Given the description of an element on the screen output the (x, y) to click on. 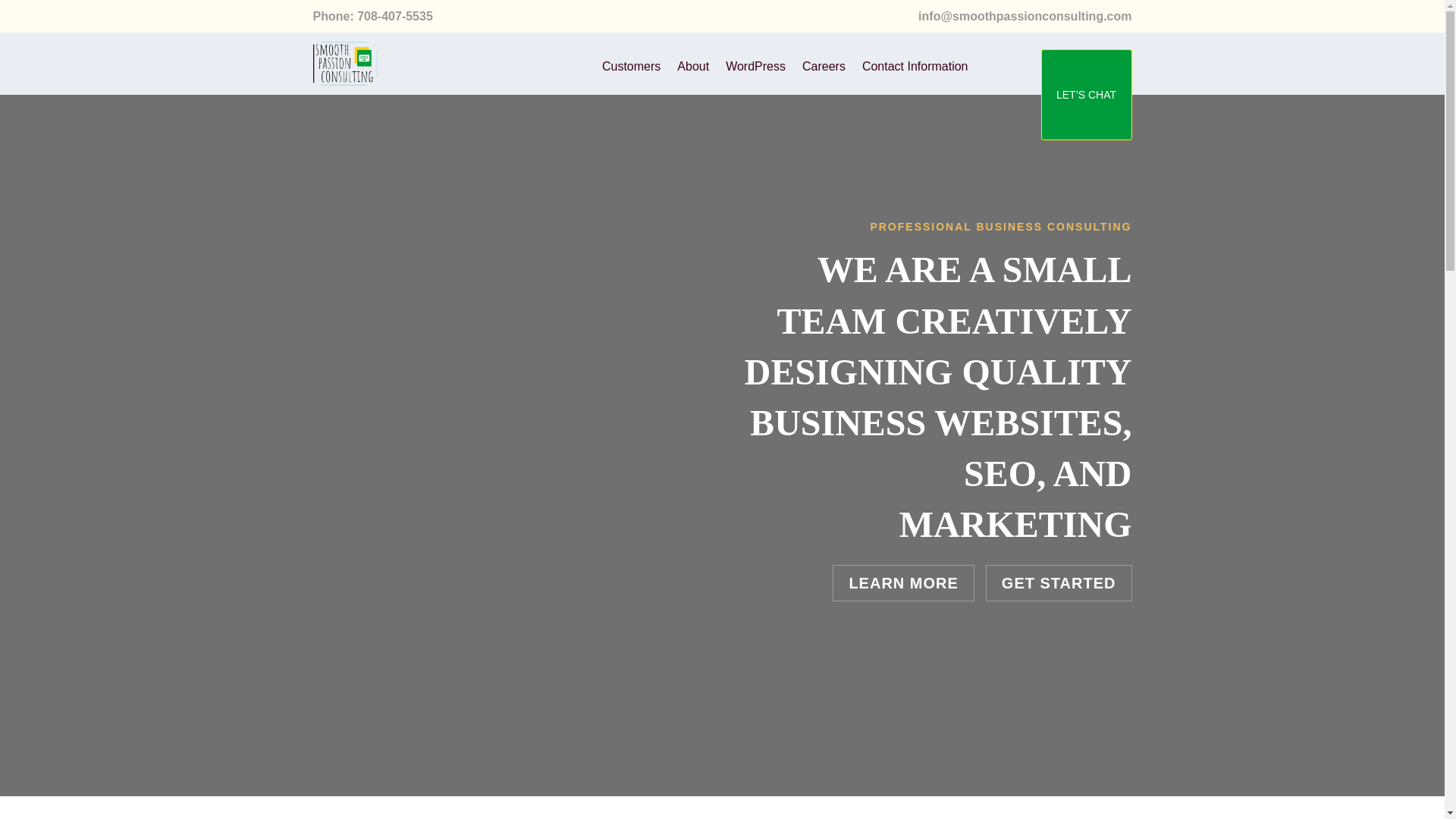
Phone: 708-407-5535 (372, 15)
About (693, 68)
GET STARTED (1058, 583)
Contact Information (914, 68)
WordPress (755, 68)
Customers (631, 68)
LEARN MORE (903, 583)
Careers (823, 68)
